Given the description of an element on the screen output the (x, y) to click on. 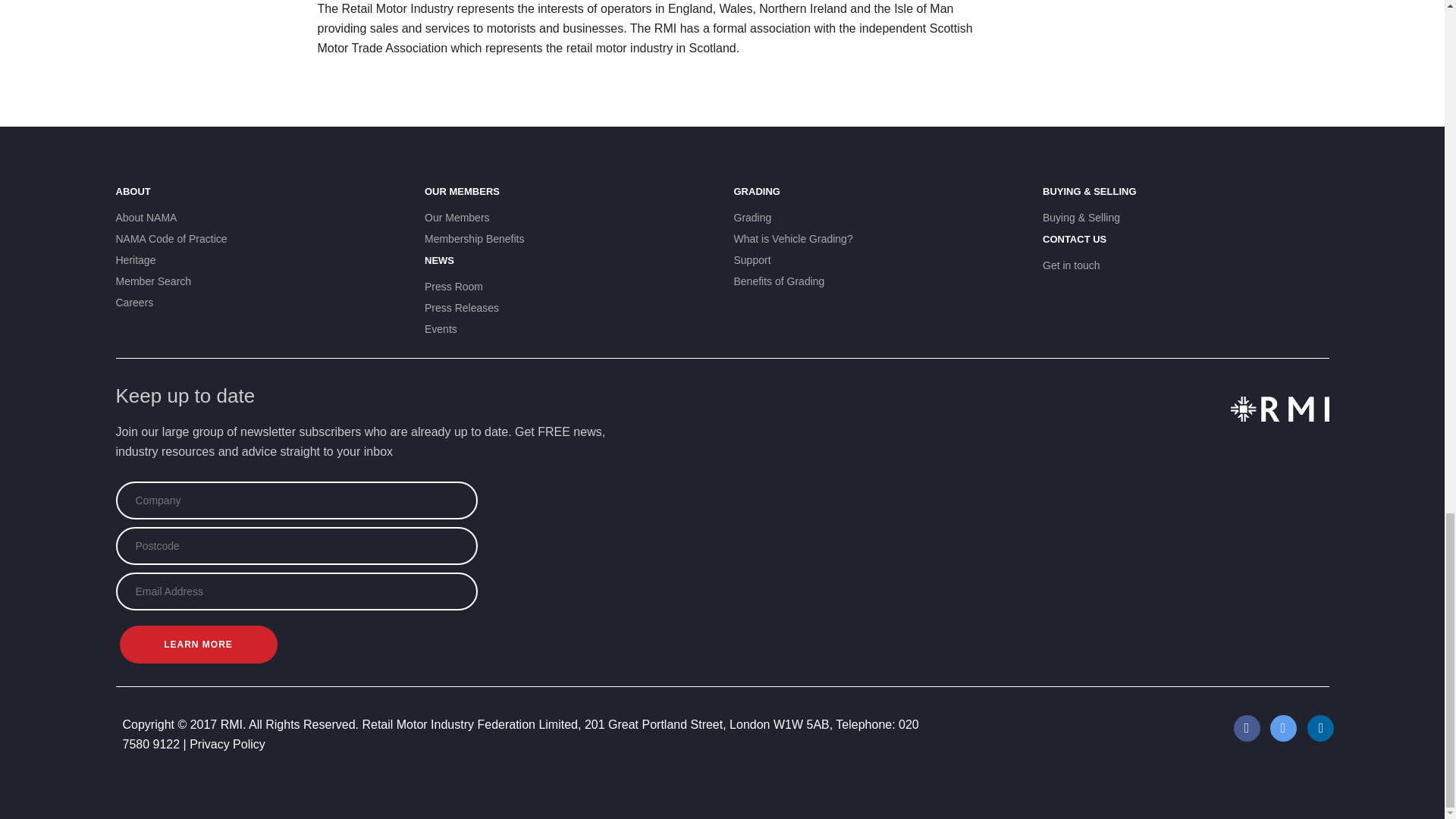
Careers (258, 302)
GRADING (876, 198)
NAMA Code of Practice (258, 238)
Heritage (258, 259)
OUR MEMBERS (568, 198)
Membership Benefits (568, 238)
Support (876, 259)
Our Members (568, 217)
What is Vehicle Grading? (876, 238)
Events (568, 328)
